Given the description of an element on the screen output the (x, y) to click on. 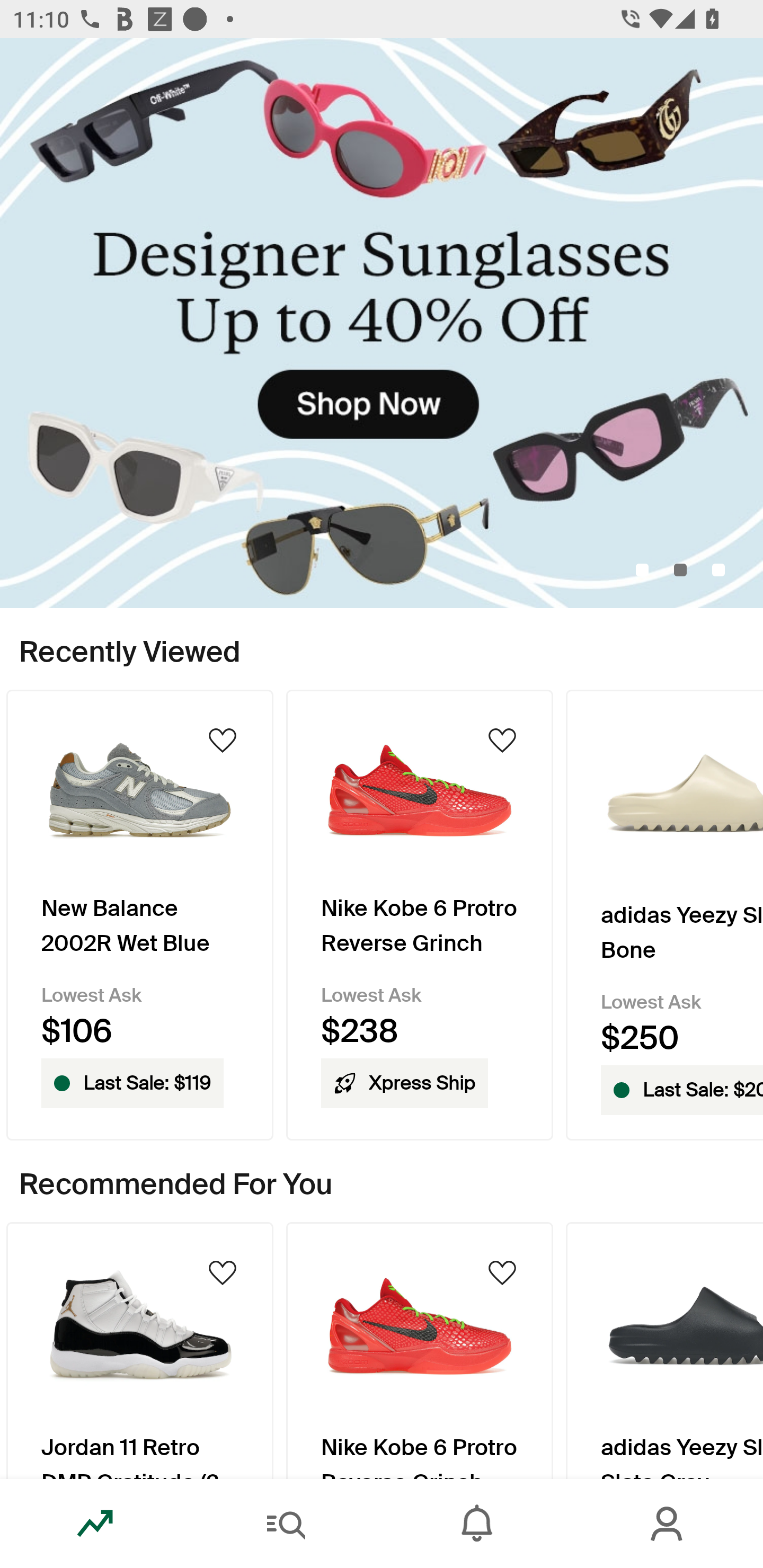
DesignerSunglassesUpto40_Off_Primary_Mobile.jpg (381, 322)
Product Image Jordan 11 Retro DMP Gratitude (2023) (139, 1349)
Product Image Nike Kobe 6 Protro Reverse Grinch (419, 1349)
Product Image adidas Yeezy Slide Slate Grey (664, 1349)
Search (285, 1523)
Inbox (476, 1523)
Account (667, 1523)
